Given the description of an element on the screen output the (x, y) to click on. 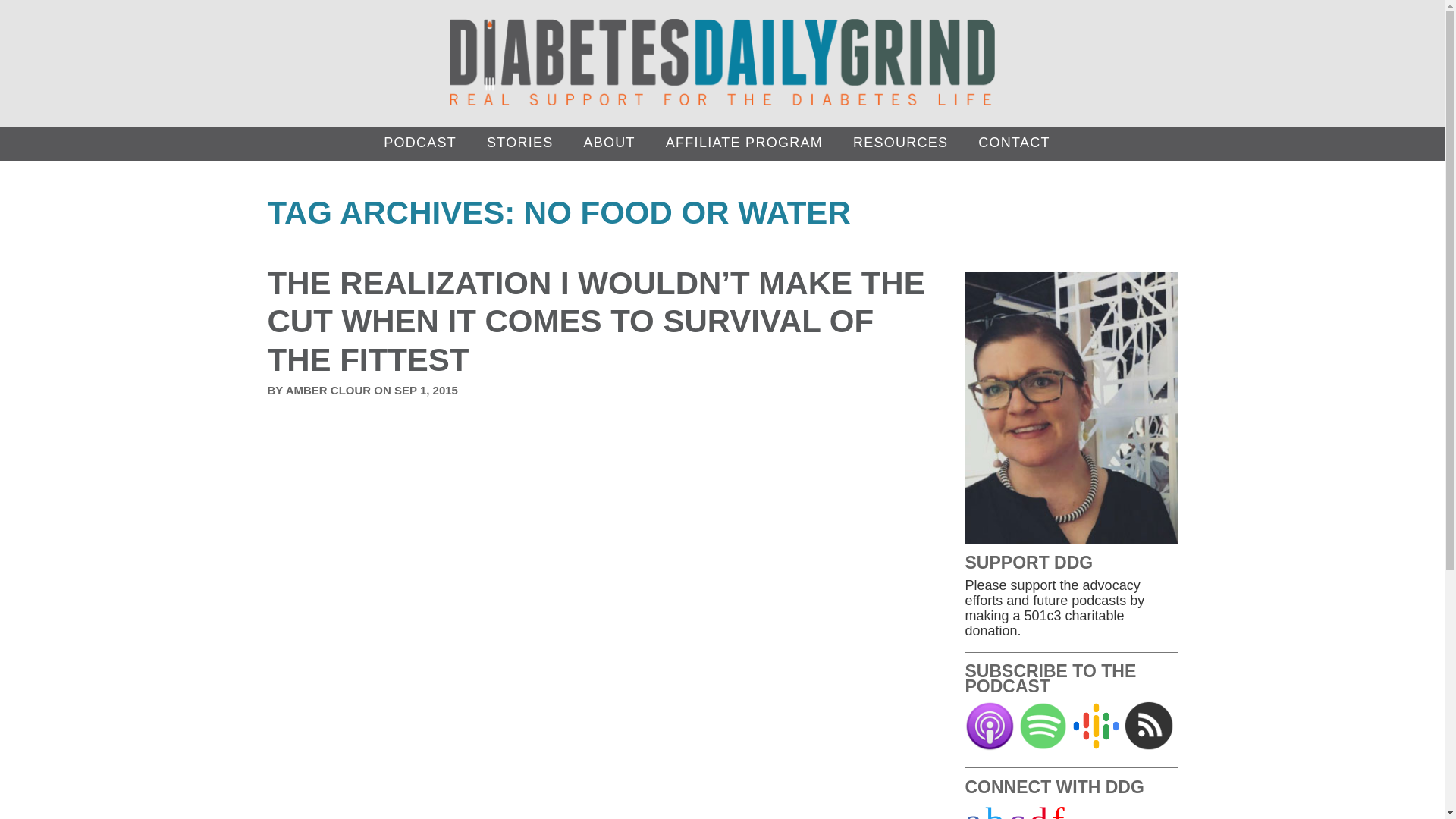
PODCAST (425, 142)
ABOUT (614, 142)
RESOURCES (905, 142)
CONTACT (1019, 142)
AFFILIATE PROGRAM (749, 142)
STORIES (525, 142)
